Given the description of an element on the screen output the (x, y) to click on. 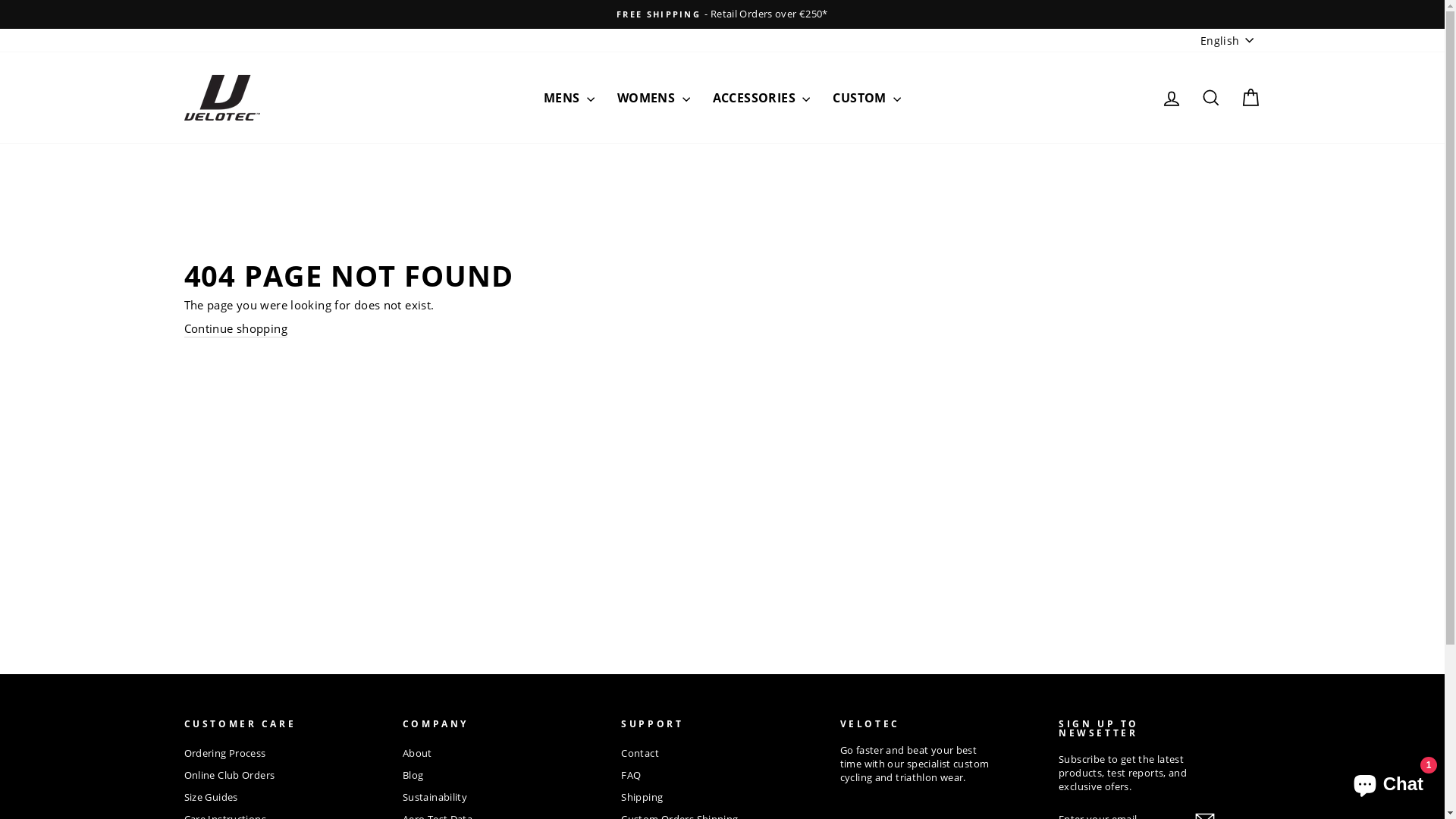
FAQ Element type: text (630, 775)
Ordering Process Element type: text (224, 753)
Blog Element type: text (412, 775)
Continue shopping Element type: text (234, 328)
English Element type: text (1228, 40)
Shipping Element type: text (641, 797)
Size Guides Element type: text (210, 797)
ICON-SEARCH
SEARCH Element type: text (1210, 97)
Shopify online store chat Element type: hover (1388, 780)
Sustainability Element type: text (434, 797)
ACCOUNT
LOG IN Element type: text (1170, 97)
CART Element type: text (1249, 97)
About Element type: text (417, 753)
Contact Element type: text (639, 753)
Online Club Orders Element type: text (228, 775)
